Given the description of an element on the screen output the (x, y) to click on. 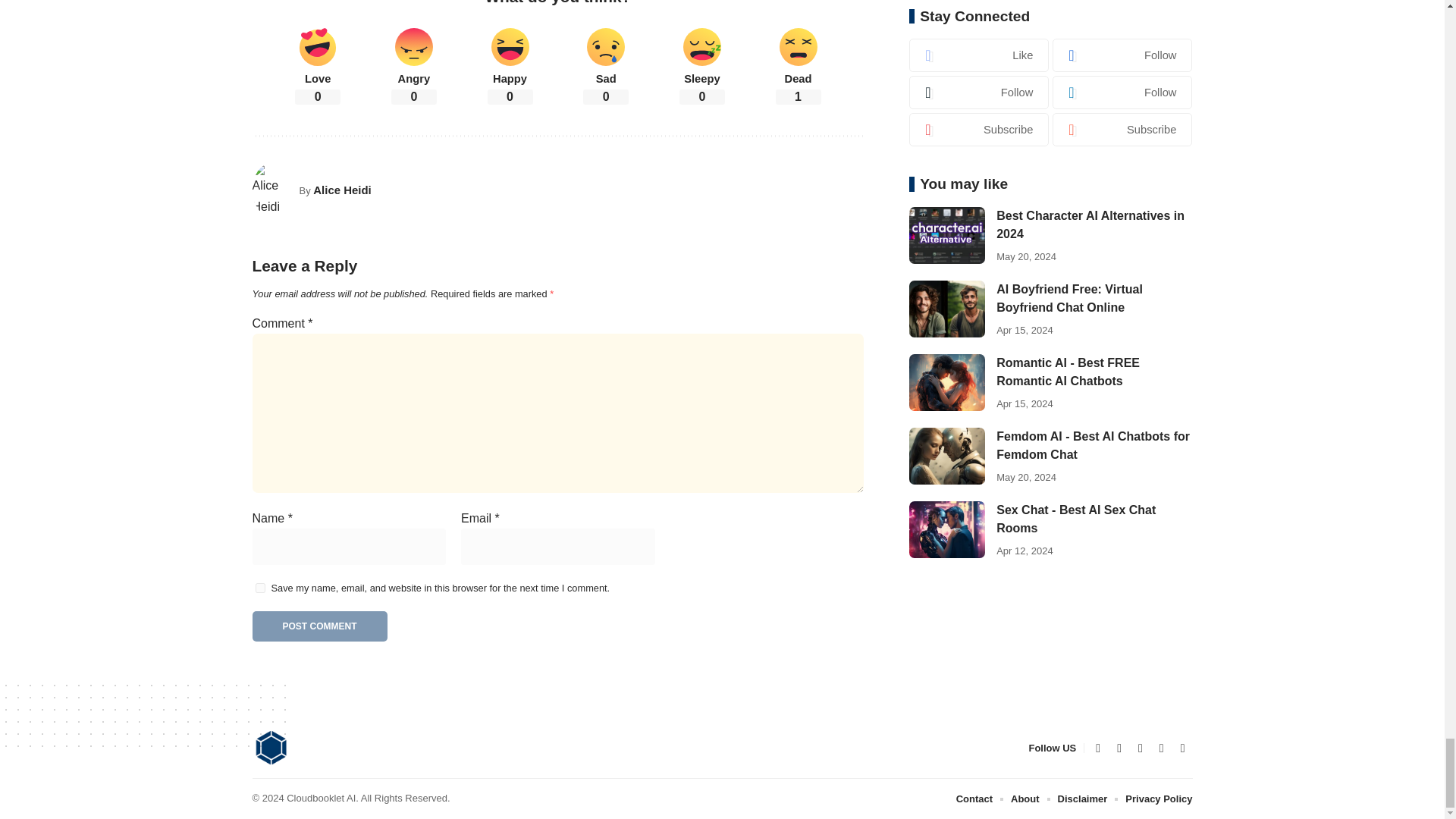
Post Comment (319, 625)
yes (259, 587)
